Given the description of an element on the screen output the (x, y) to click on. 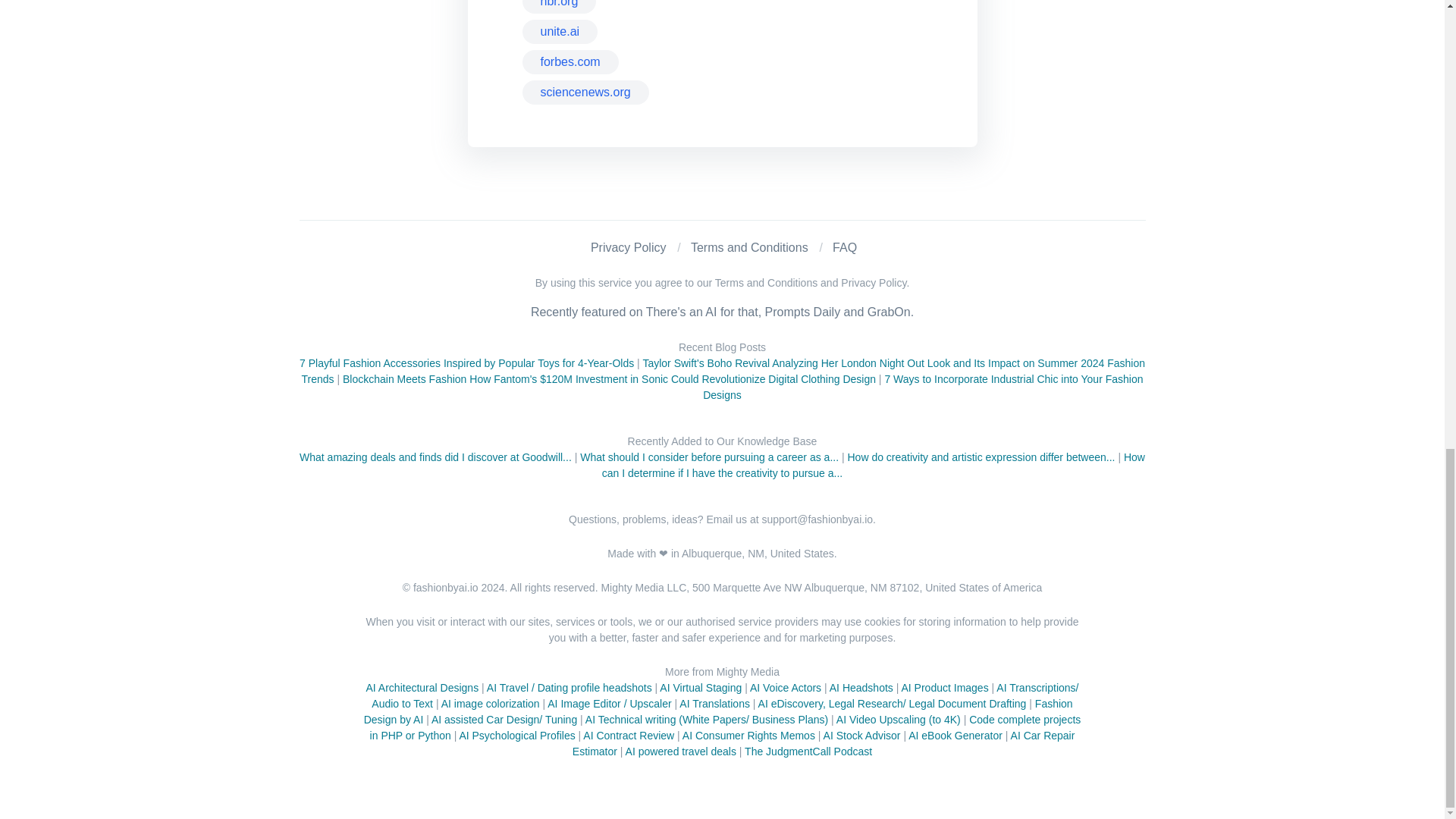
AI Virtual Staging (700, 687)
How do creativity and artistic expression differ between... (981, 457)
sciencenews.org (584, 92)
AI Voice Actors (785, 687)
How can I determine if I have the creativity to pursue a... (873, 465)
AI Headshots (861, 687)
Code complete projects in PHP or Python (725, 727)
What should I consider before pursuing a career as a... (708, 457)
AI Psychological Profiles (516, 735)
Privacy Policy (628, 246)
unite.ai (558, 31)
Terms and Conditions (749, 246)
AI Product Images (944, 687)
